Given the description of an element on the screen output the (x, y) to click on. 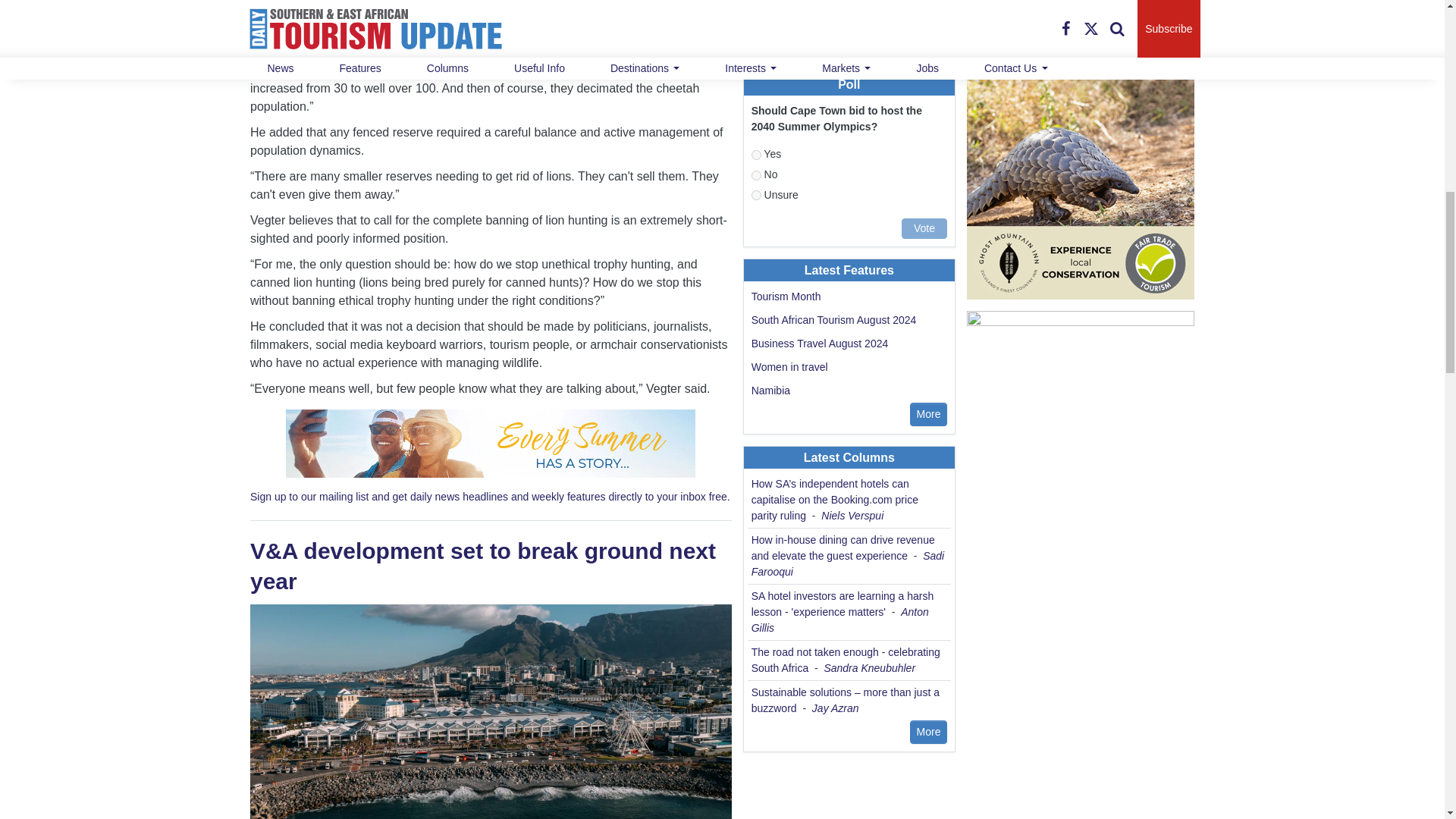
2022c62b8 (756, 194)
c0d0a4ff6 (756, 175)
46b2e71f7 (756, 154)
Vote (924, 228)
